Given the description of an element on the screen output the (x, y) to click on. 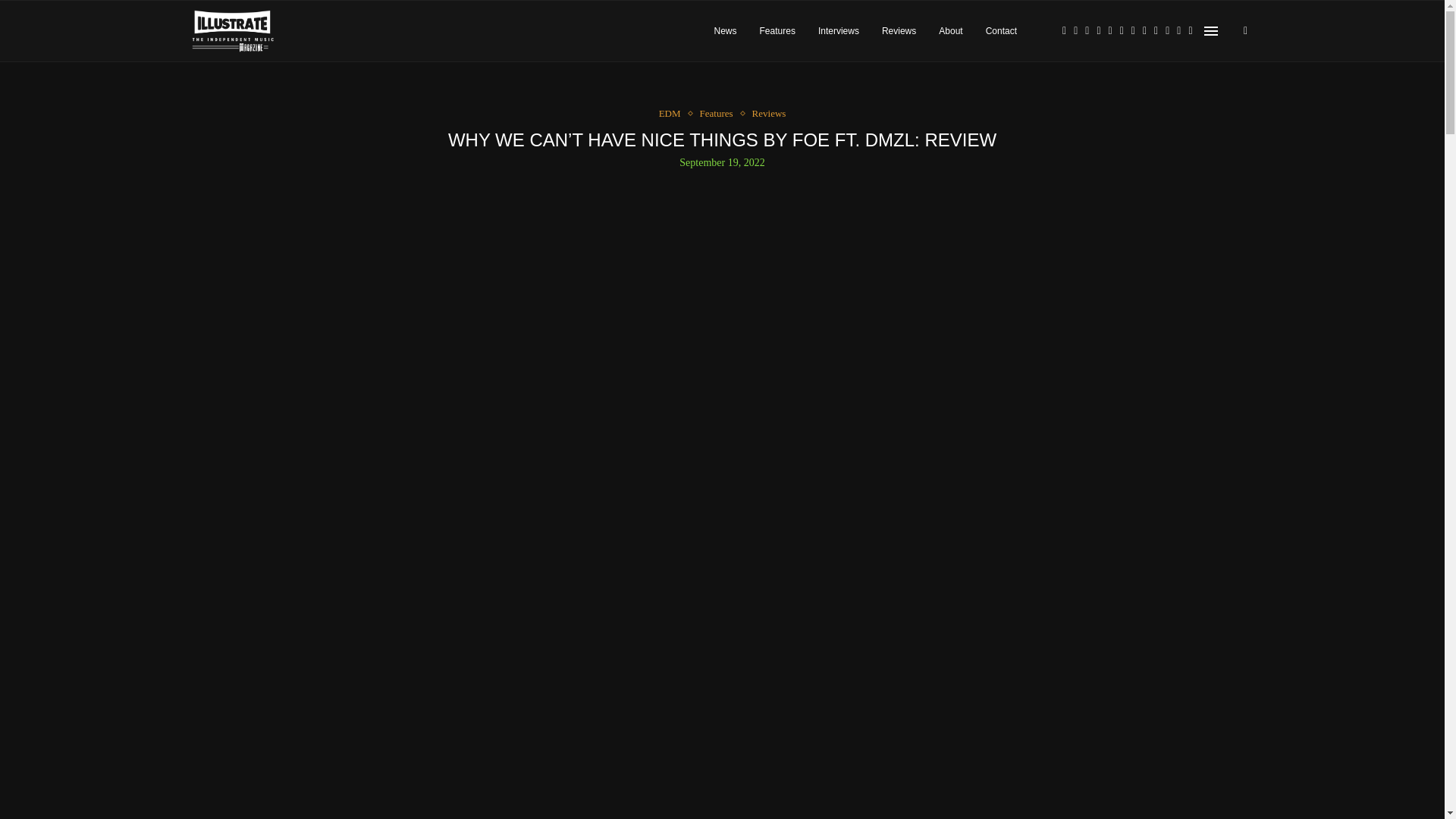
EDM (673, 113)
Features (777, 30)
News (725, 30)
Interviews (838, 30)
Contact (1000, 30)
Reviews (769, 113)
About (950, 30)
Reviews (898, 30)
Features (720, 113)
